Given the description of an element on the screen output the (x, y) to click on. 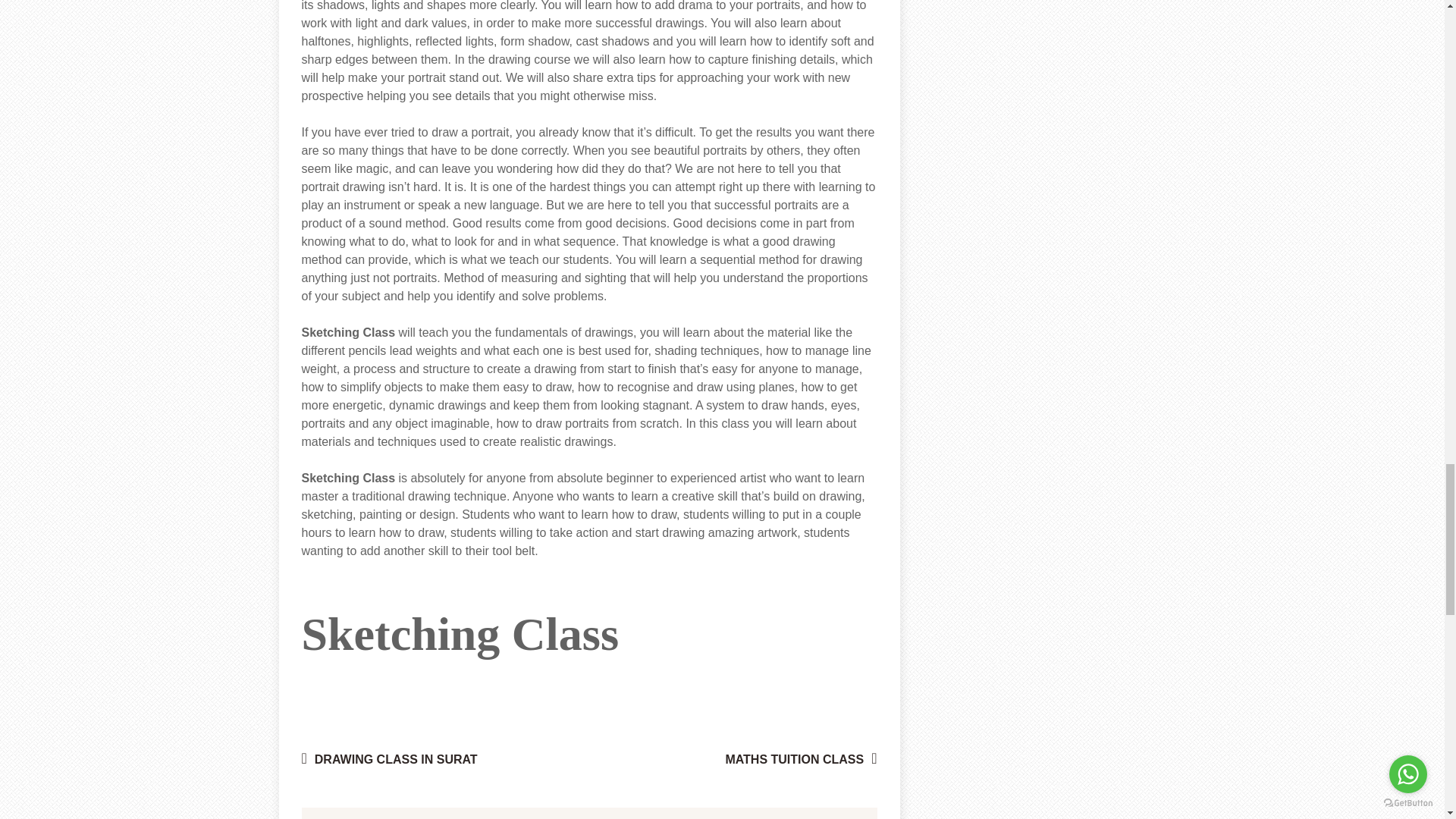
DRAWING CLASS IN SURAT (389, 758)
MATHS TUITION CLASS (800, 758)
